Given the description of an element on the screen output the (x, y) to click on. 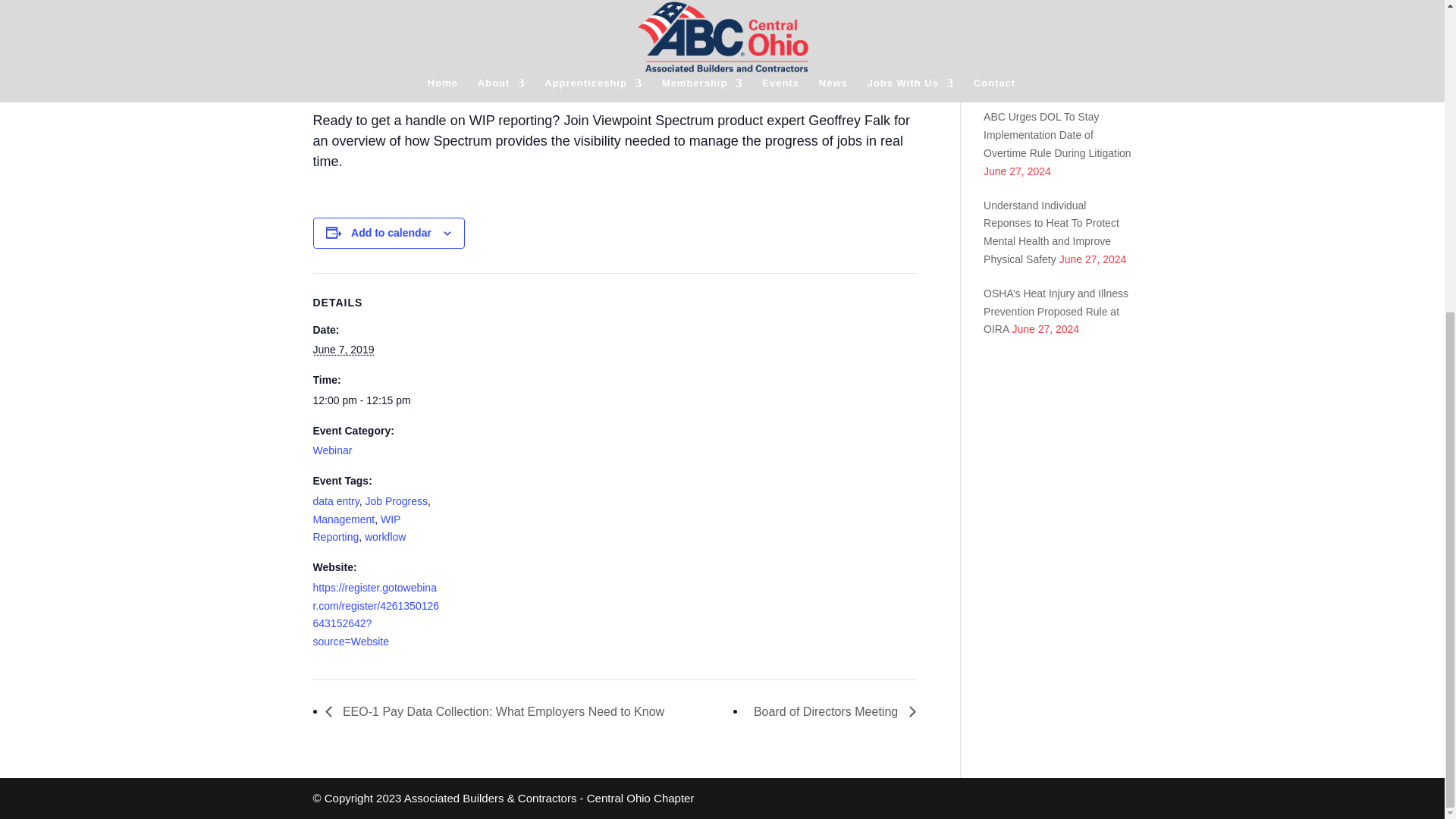
2019-06-07 (343, 349)
2019-06-07 (376, 401)
